Given the description of an element on the screen output the (x, y) to click on. 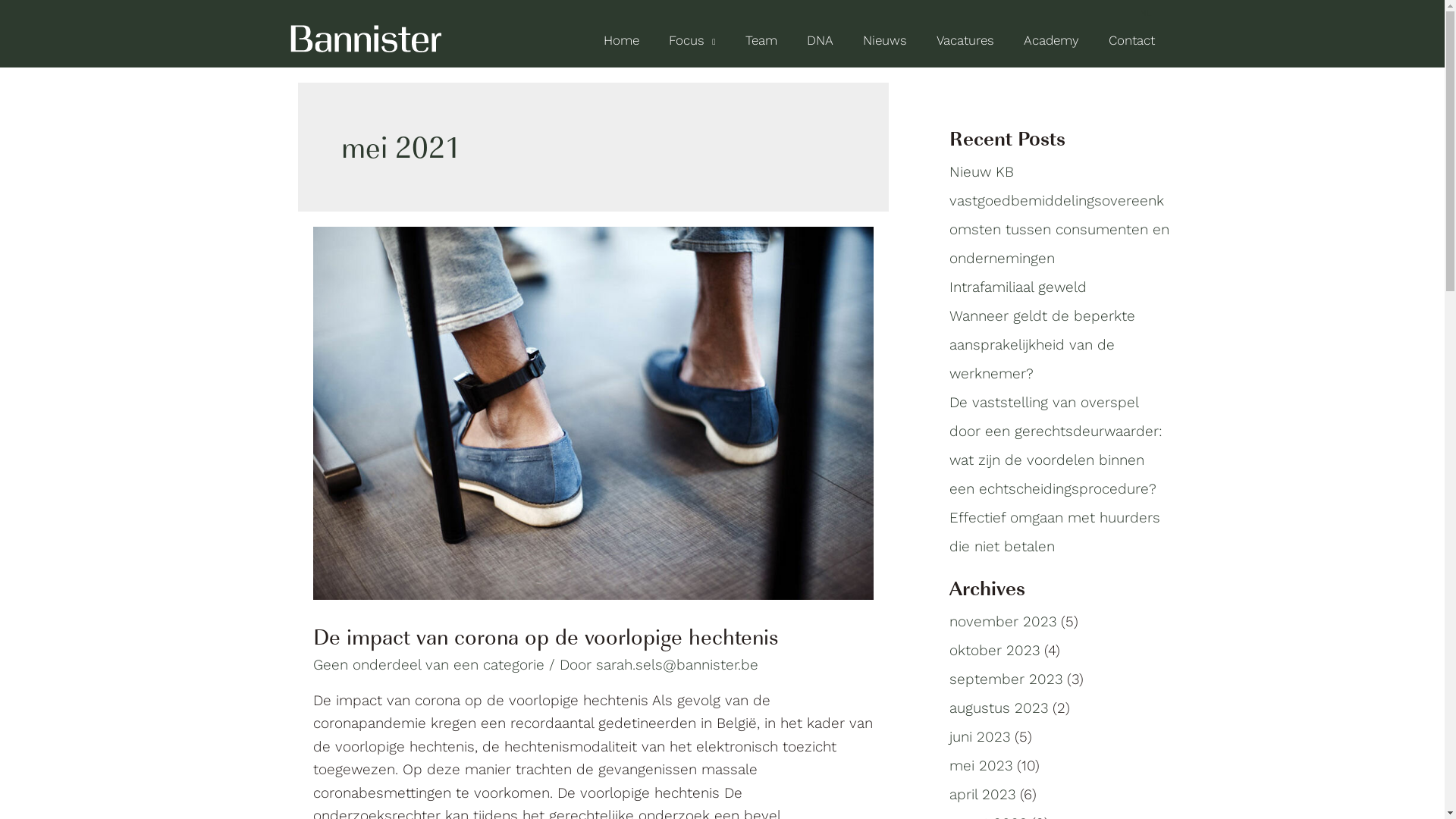
Home Element type: text (621, 38)
augustus 2023 Element type: text (998, 707)
oktober 2023 Element type: text (994, 649)
mei 2023 Element type: text (980, 765)
NL Element type: text (1144, 12)
Vacatures Element type: text (965, 38)
april 2023 Element type: text (982, 794)
Team Element type: text (761, 38)
september 2023 Element type: text (1005, 678)
Academy Element type: text (1050, 38)
november 2023 Element type: text (1002, 621)
juni 2023 Element type: text (979, 736)
Contact Element type: text (1131, 38)
sarah.sels@bannister.be Element type: text (677, 664)
Intrafamiliaal geweld Element type: text (1017, 286)
Geen onderdeel van een categorie Element type: text (427, 664)
DNA Element type: text (819, 38)
De impact van corona op de voorlopige hechtenis Element type: text (545, 635)
Focus Element type: text (692, 38)
Nieuws Element type: text (884, 38)
Effectief omgaan met huurders die niet betalen Element type: text (1054, 531)
